Given the description of an element on the screen output the (x, y) to click on. 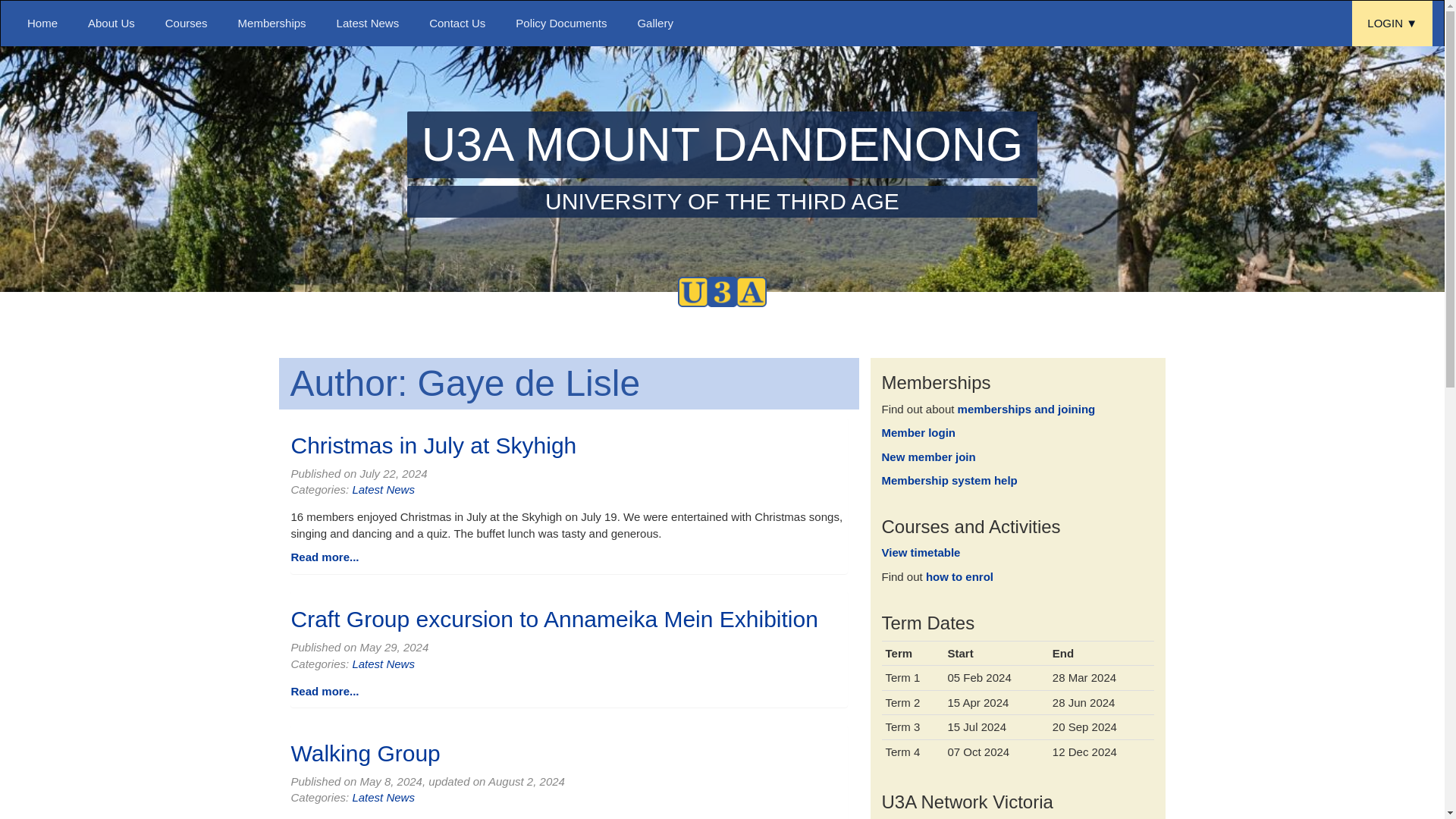
Home (41, 22)
Latest News (383, 663)
LOGIN (1392, 22)
Gallery (654, 22)
Policy Documents (560, 22)
Christmas in July at Skyhigh (433, 444)
Latest News (367, 22)
Craft Group excursion to Annameika Mein Exhibition (554, 618)
About Us (110, 22)
Walking Group (366, 753)
Read more... (325, 690)
Memberships (271, 22)
Courses (721, 163)
Read more... (185, 22)
